Given the description of an element on the screen output the (x, y) to click on. 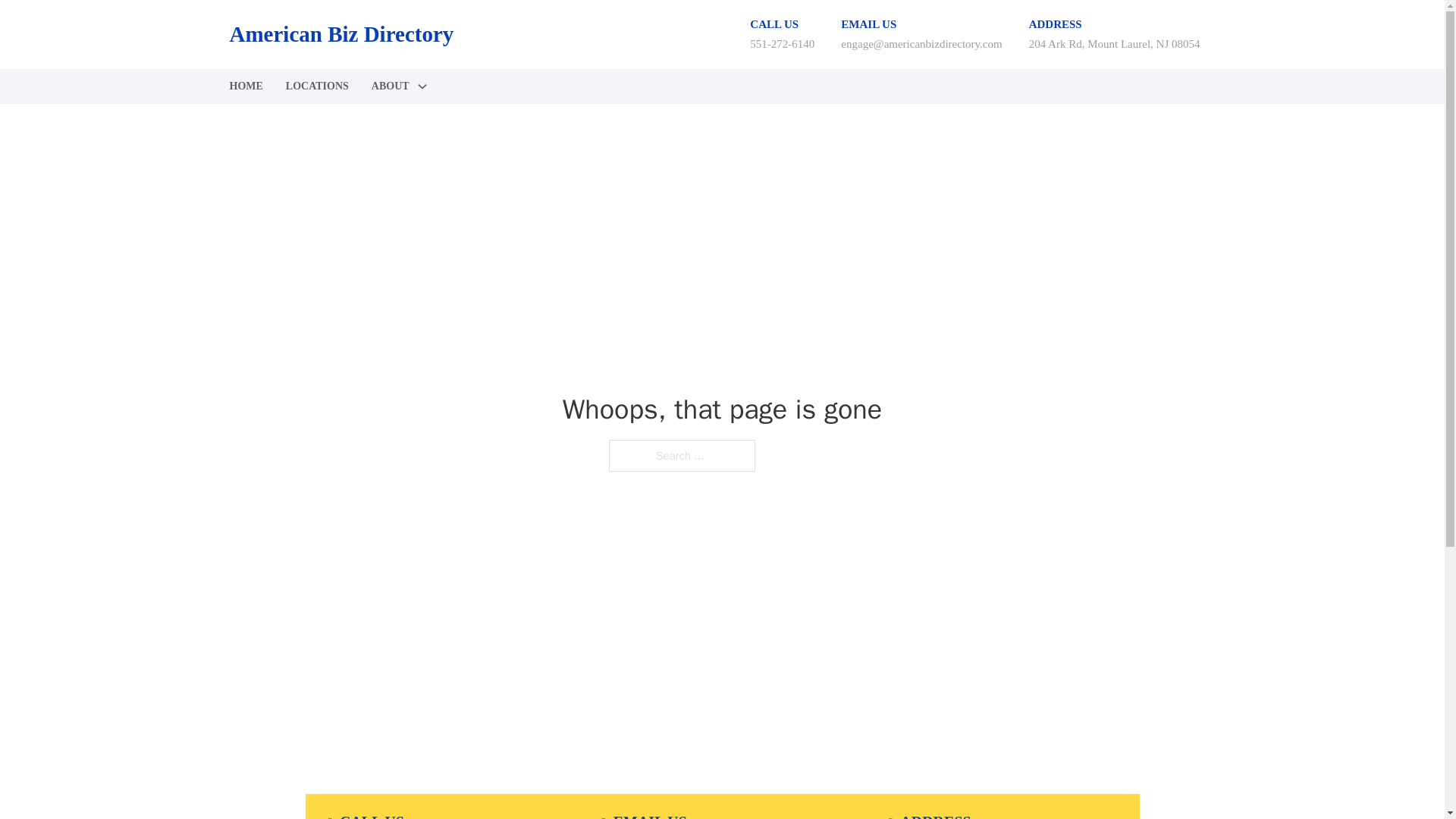
American Biz Directory (340, 34)
HOME (245, 85)
LOCATIONS (317, 85)
551-272-6140 (781, 43)
